Given the description of an element on the screen output the (x, y) to click on. 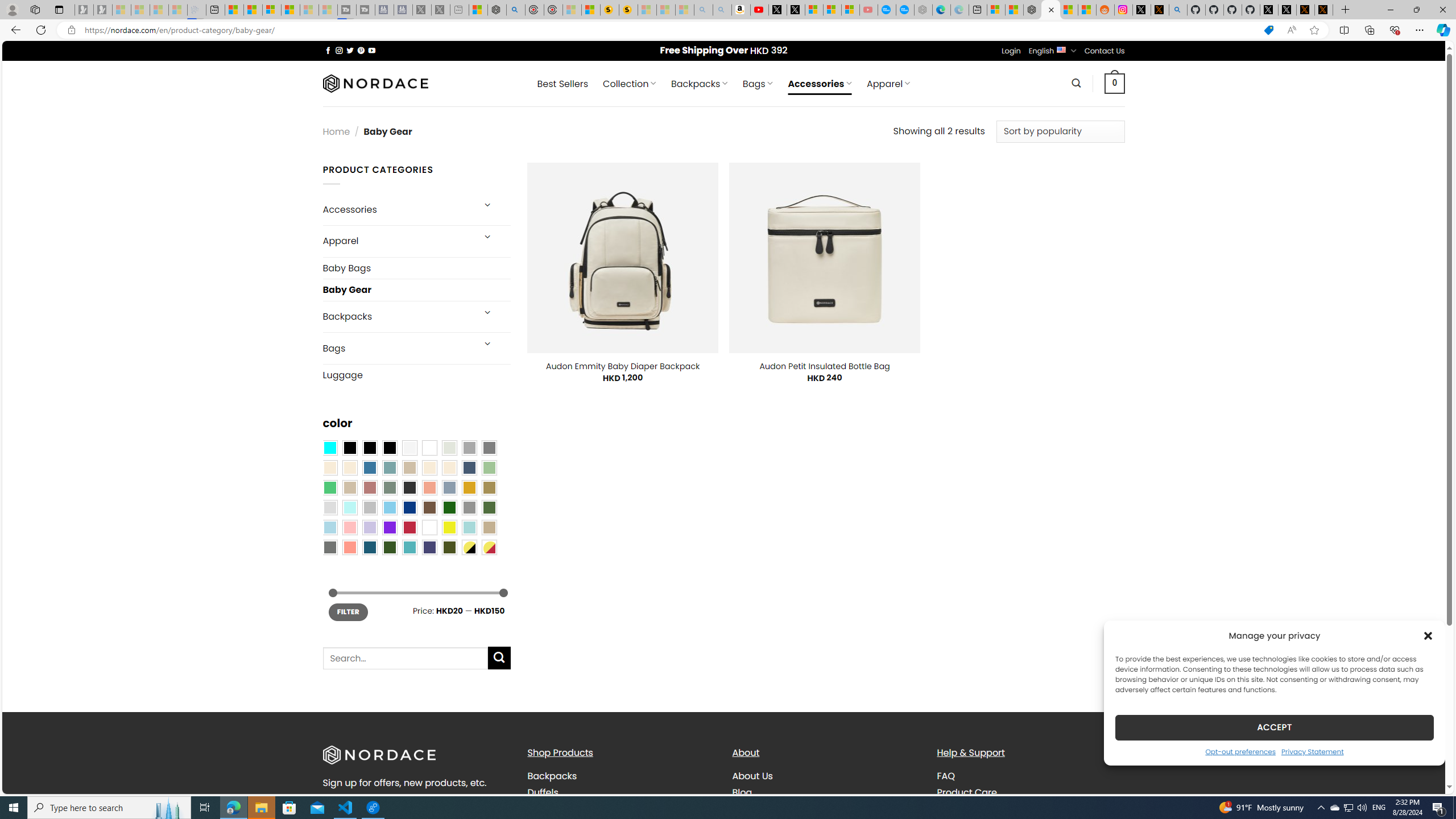
Backpacks (620, 776)
Caramel (429, 467)
help.x.com | 524: A timeout occurred (1159, 9)
Red (408, 527)
Yellow-Red (488, 547)
Baby Gear (416, 289)
Army Green (449, 547)
Blue (369, 467)
Yellow-Black (468, 547)
